Given the description of an element on the screen output the (x, y) to click on. 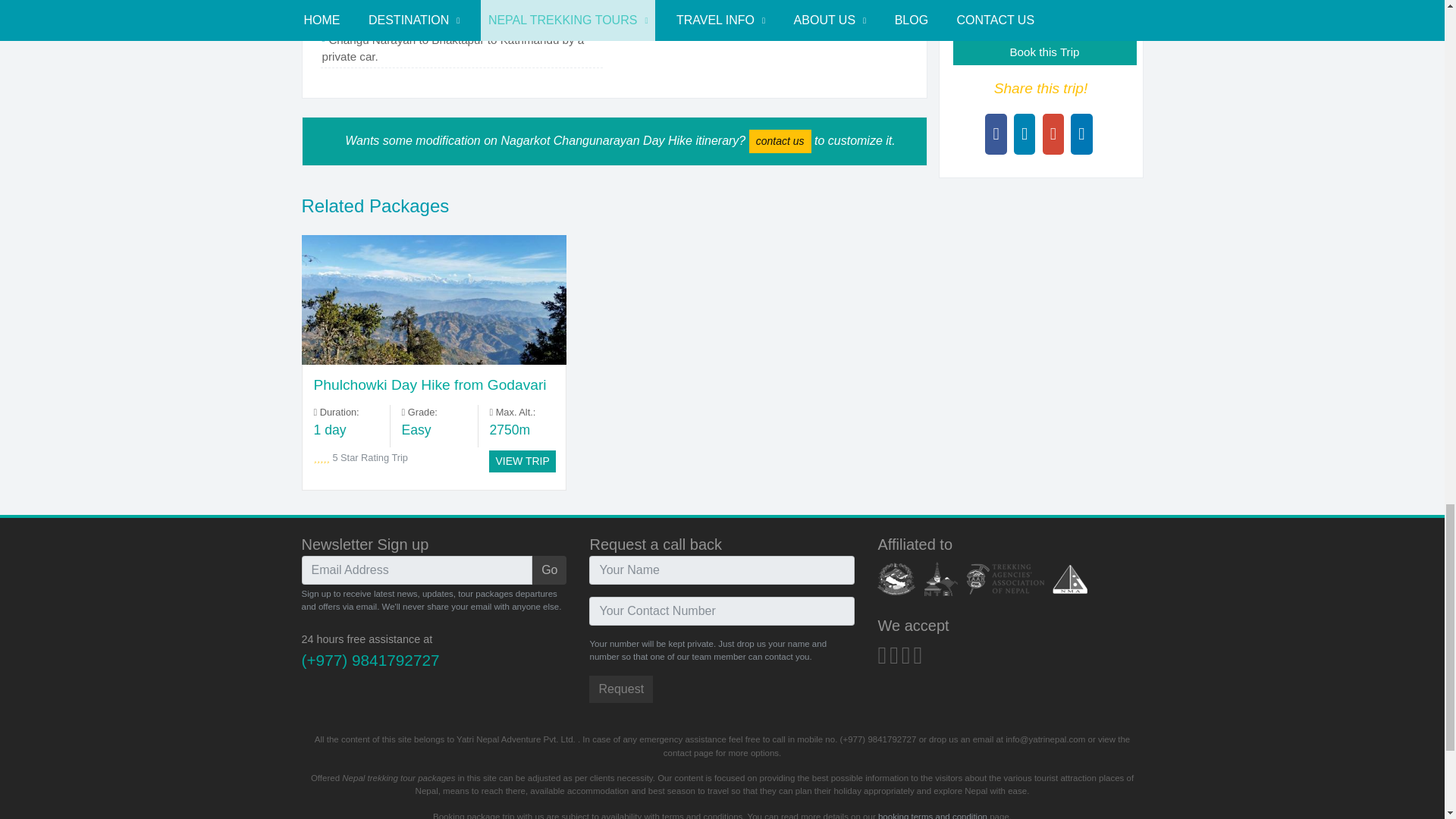
Go (549, 570)
Request (620, 688)
